Given the description of an element on the screen output the (x, y) to click on. 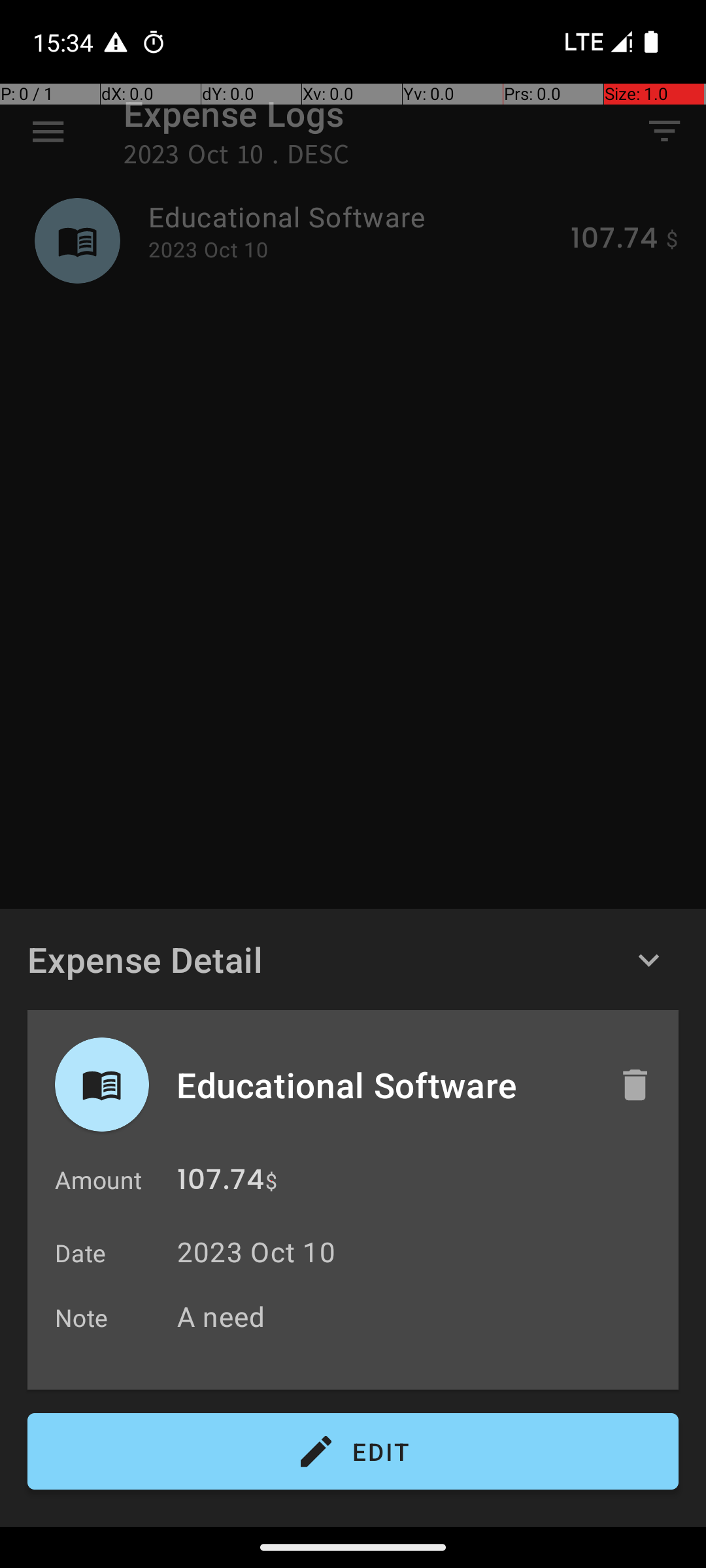
Educational Software Element type: android.widget.TextView (383, 1084)
107.74 Element type: android.widget.TextView (220, 1182)
$ Element type: android.widget.TextView (270, 1180)
